Given the description of an element on the screen output the (x, y) to click on. 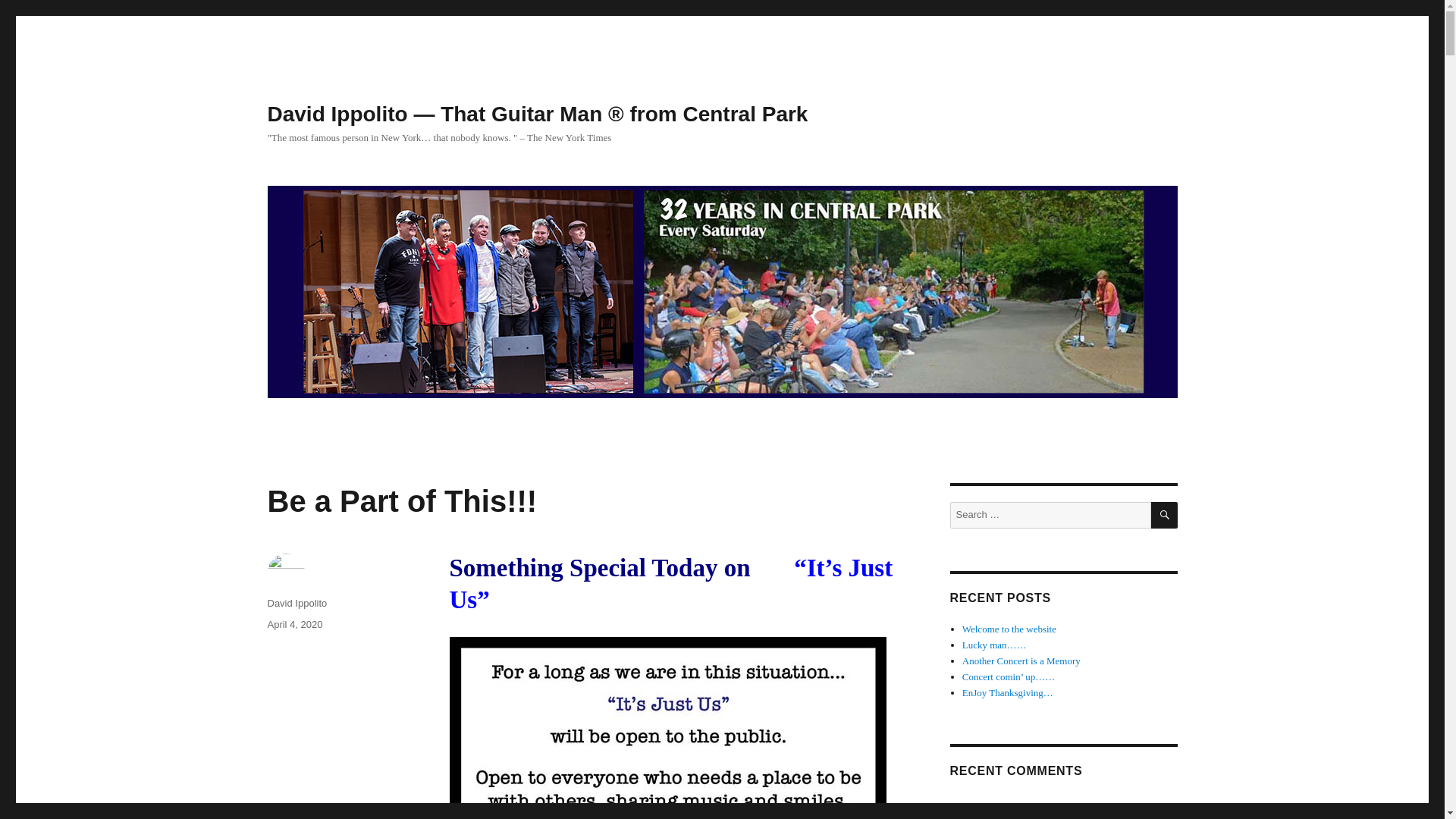
Another Concert is a Memory (1021, 660)
SEARCH (1164, 515)
David Ippolito (296, 603)
Welcome to the website (1009, 628)
April 4, 2020 (293, 624)
